Given the description of an element on the screen output the (x, y) to click on. 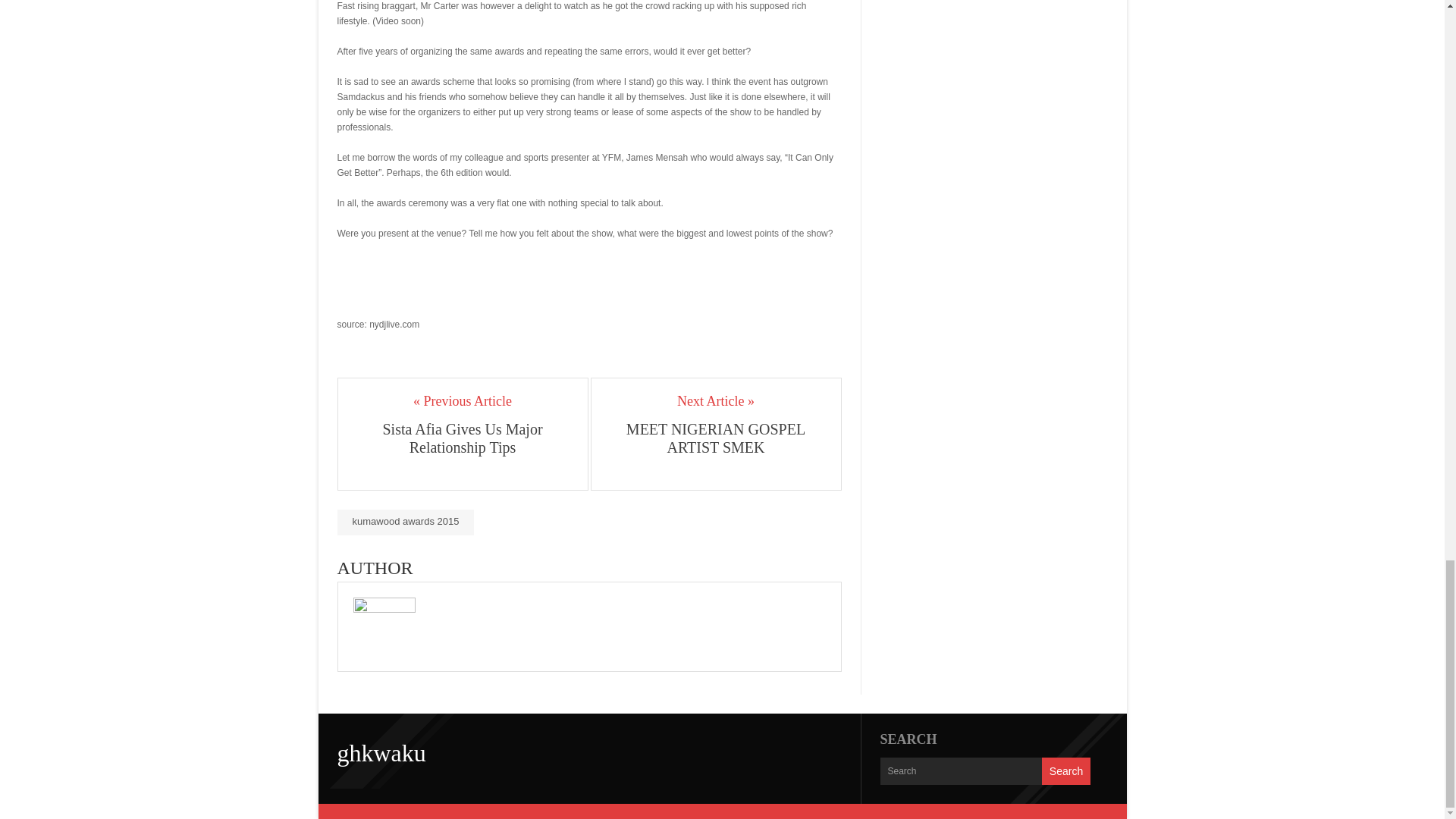
MEET NIGERIAN GOSPEL ARTIST SMEK (716, 438)
ghkwaku (380, 752)
kumawood awards 2015 (405, 522)
Search (1066, 770)
Search (1066, 770)
Sista Afia Gives Us Major Relationship Tips (462, 438)
